Given the description of an element on the screen output the (x, y) to click on. 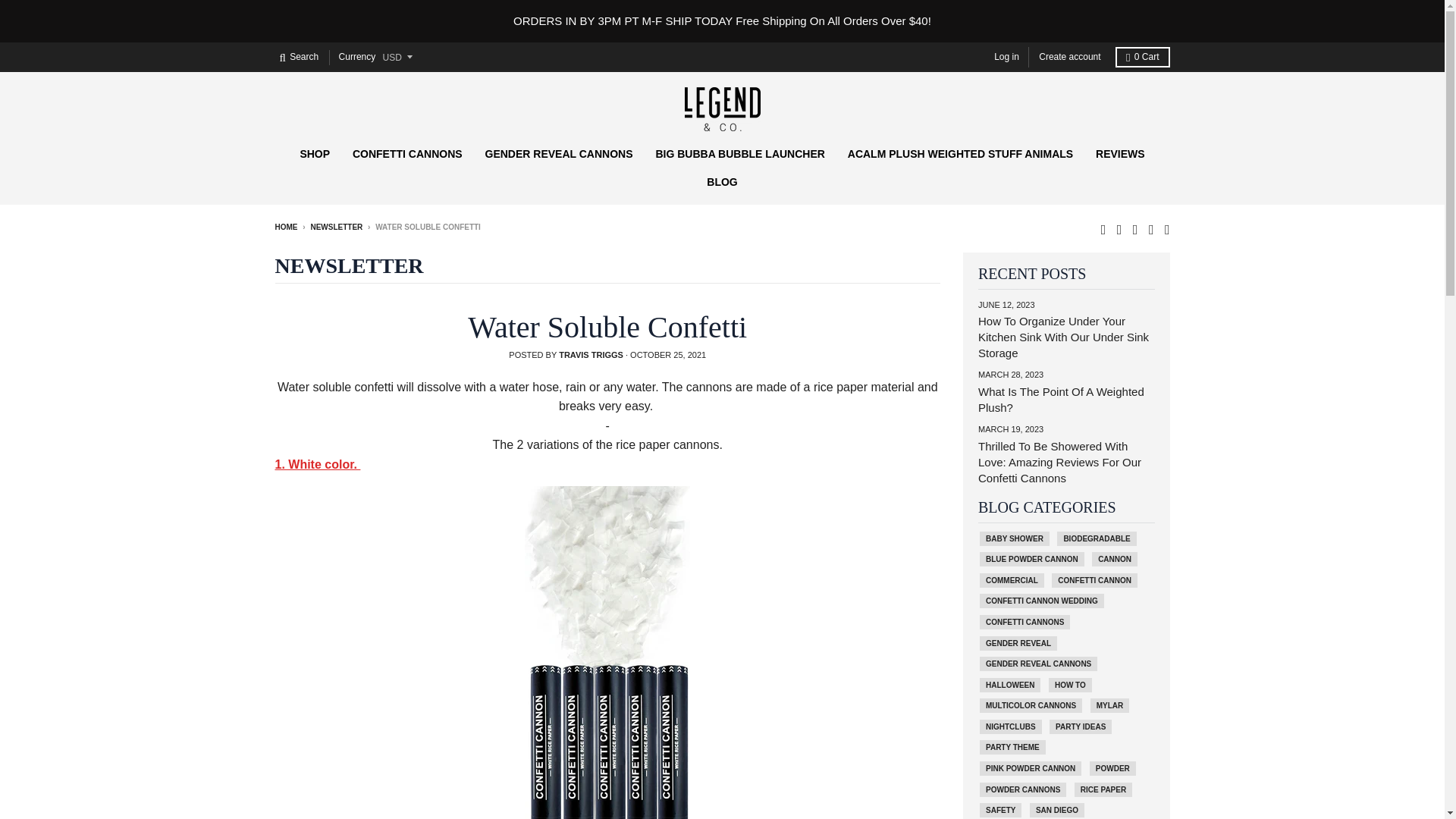
SHOP (314, 153)
Back to the frontpage (286, 226)
NEWSLETTER (336, 226)
BIG BUBBA BUBBLE LAUNCHER (739, 153)
0 Cart (1142, 56)
REVIEWS (1120, 153)
Create account (1069, 56)
BLOG (721, 181)
HOME (286, 226)
Search (299, 56)
